Given the description of an element on the screen output the (x, y) to click on. 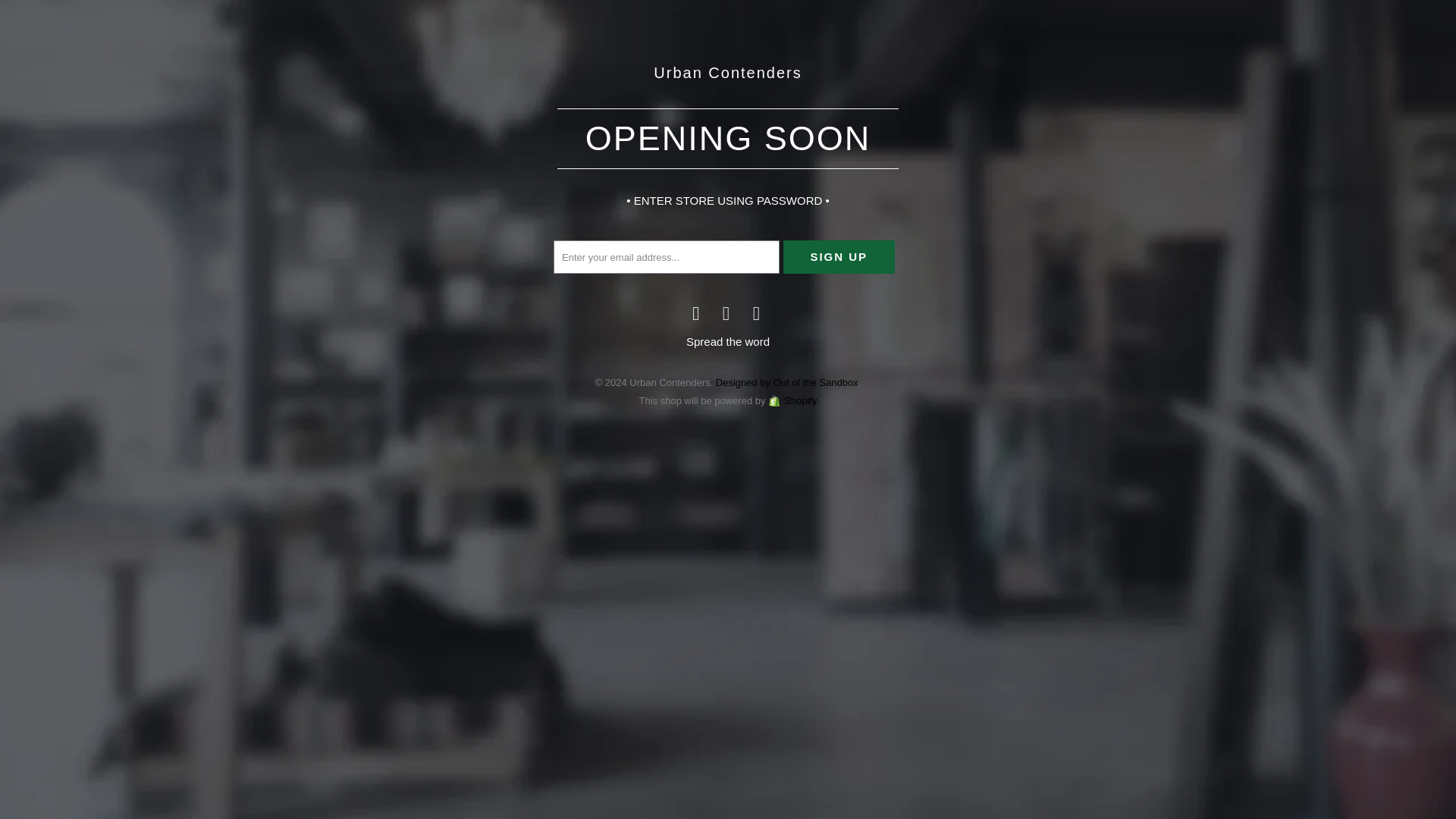
Sign Up (839, 256)
Urban Contenders on Facebook (695, 312)
Urban Contenders on Instagram (757, 312)
Sign Up (839, 256)
Urban Contenders on Pinterest (726, 312)
